Given the description of an element on the screen output the (x, y) to click on. 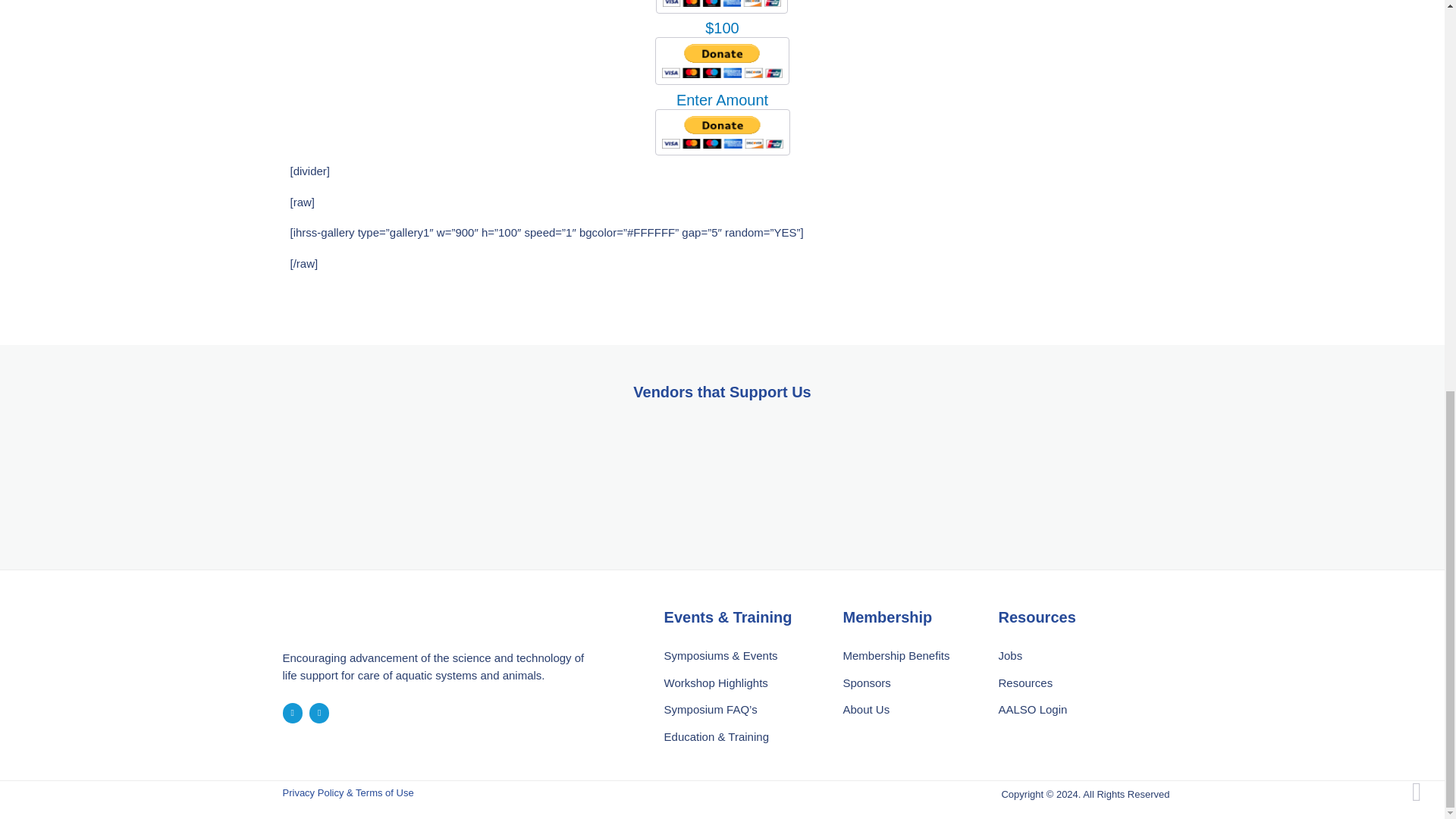
About Us (912, 709)
Sponsors (912, 682)
Workshop Highlights (745, 682)
Membership Benefits (912, 655)
